Given the description of an element on the screen output the (x, y) to click on. 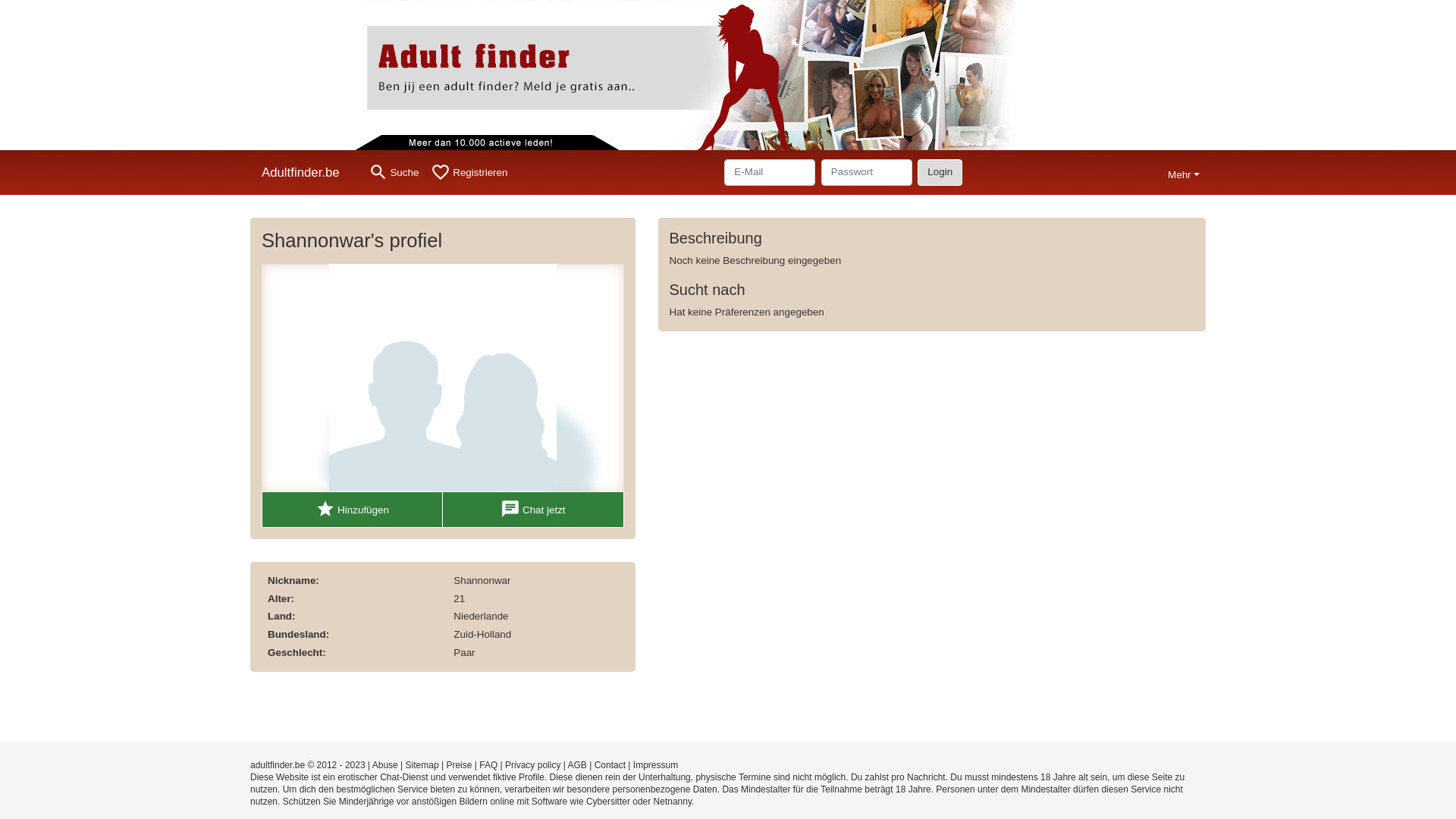
search
Suche Element type: text (393, 172)
Adultfinder.be Element type: text (306, 172)
Impressum Element type: text (655, 764)
favorite_border
Registrieren Element type: text (468, 172)
Mehr Element type: text (1183, 172)
Contact Element type: text (609, 764)
Login Element type: text (939, 172)
Sitemap Element type: text (422, 764)
FAQ Element type: text (488, 764)
Abuse Element type: text (385, 764)
Privacy policy Element type: text (532, 764)
Preise Element type: text (458, 764)
chat Chat jetzt Element type: text (533, 509)
AGB Element type: text (576, 764)
